Given the description of an element on the screen output the (x, y) to click on. 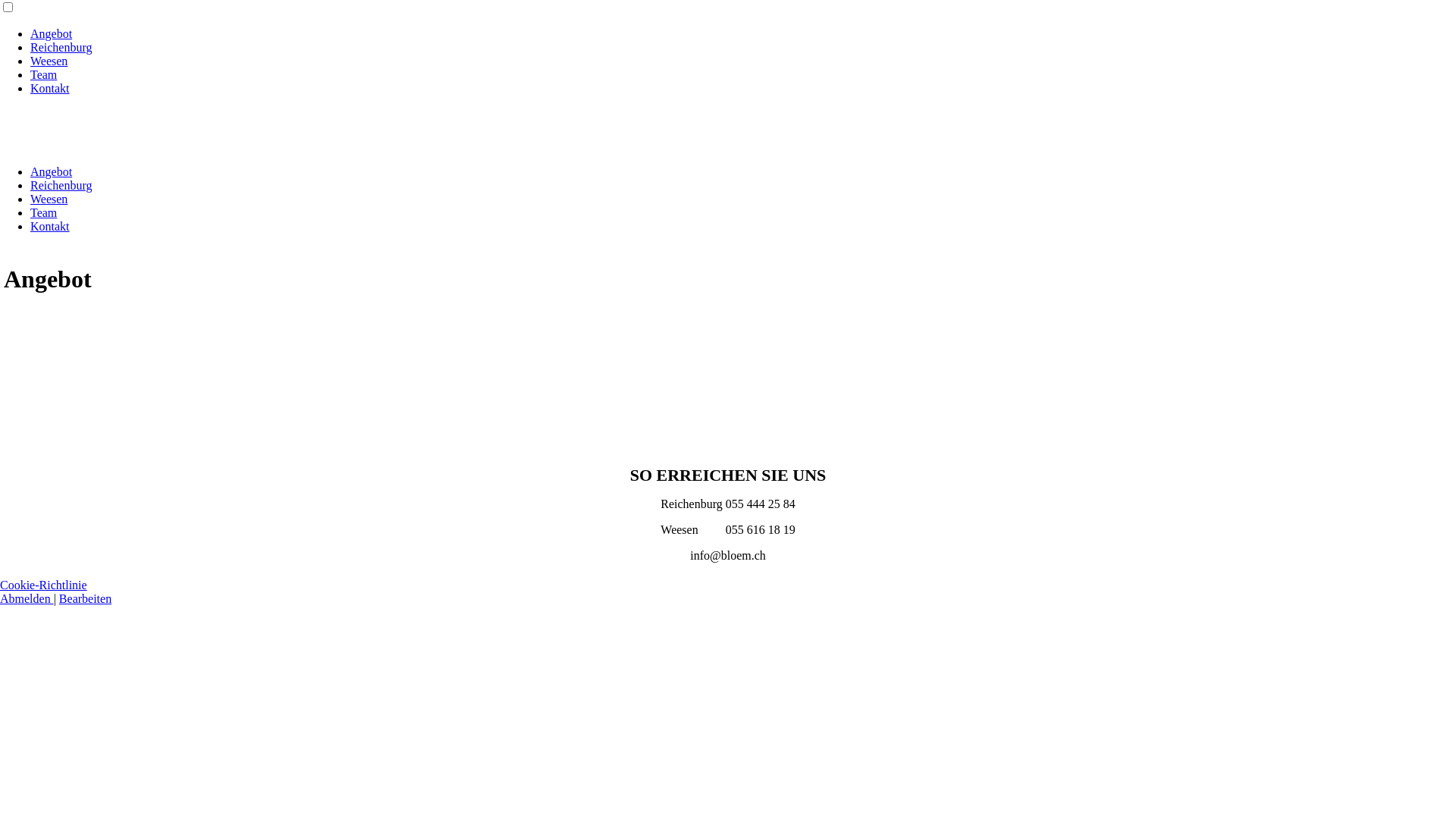
Reichenburg Element type: text (60, 46)
Cookie-Richtlinie Element type: text (43, 584)
Kontakt Element type: text (49, 87)
Weesen Element type: text (48, 198)
Weesen Element type: text (48, 60)
Reichenburg Element type: text (60, 184)
Bearbeiten Element type: text (85, 598)
Team Element type: text (43, 212)
Abmelden Element type: text (26, 598)
Team Element type: text (43, 74)
Angebot Element type: text (51, 171)
Kontakt Element type: text (49, 225)
Angebot Element type: text (51, 33)
